Given the description of an element on the screen output the (x, y) to click on. 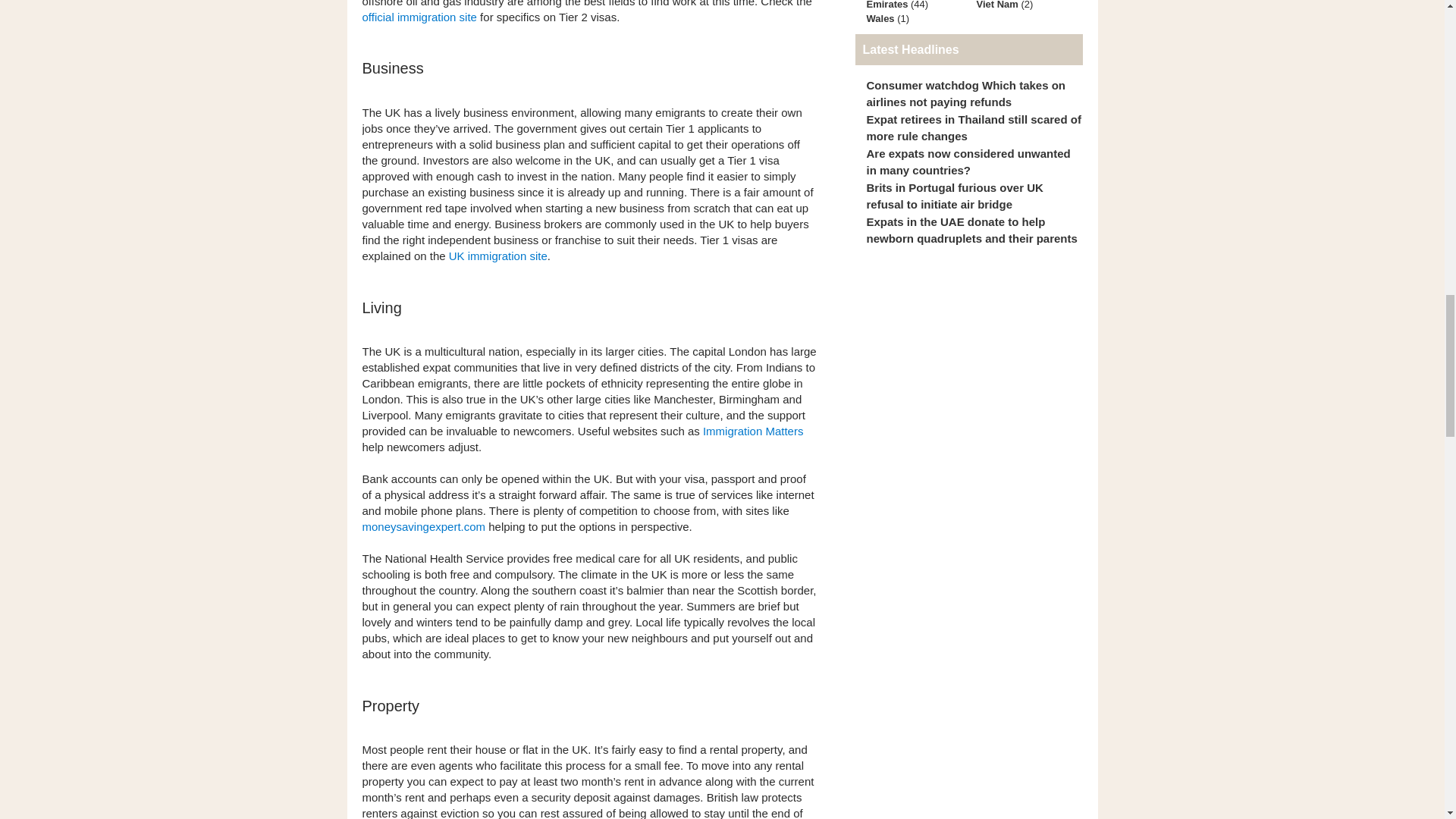
UK immigration site (497, 255)
Immigration Matters (753, 431)
official immigration site (419, 16)
moneysavingexpert.com (424, 526)
